Given the description of an element on the screen output the (x, y) to click on. 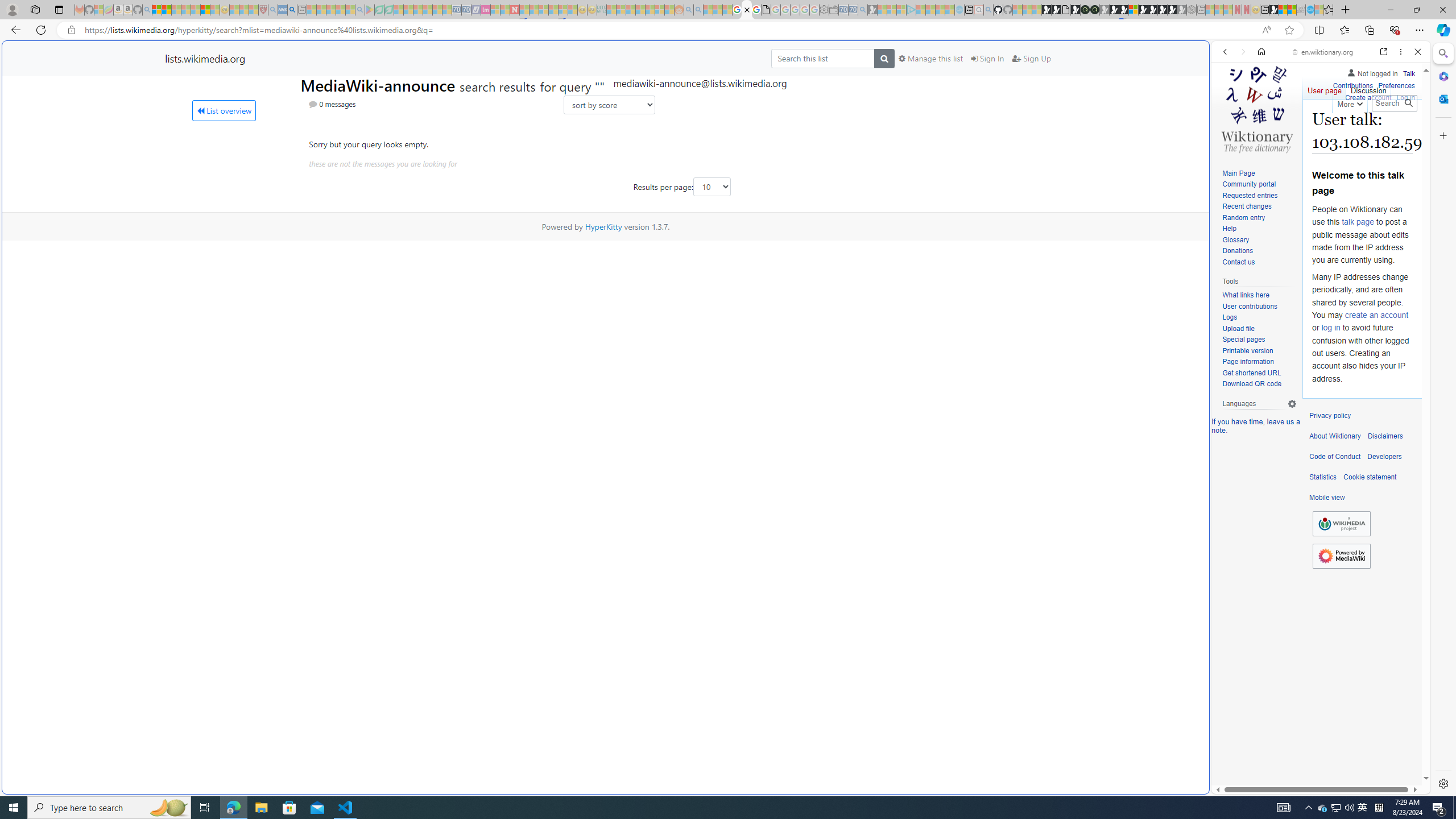
Code of Conduct (1334, 456)
utah sues federal government - Search (291, 9)
Donations (1237, 250)
Printable version (1247, 350)
Upload file (1259, 328)
talk page (1357, 221)
